Given the description of an element on the screen output the (x, y) to click on. 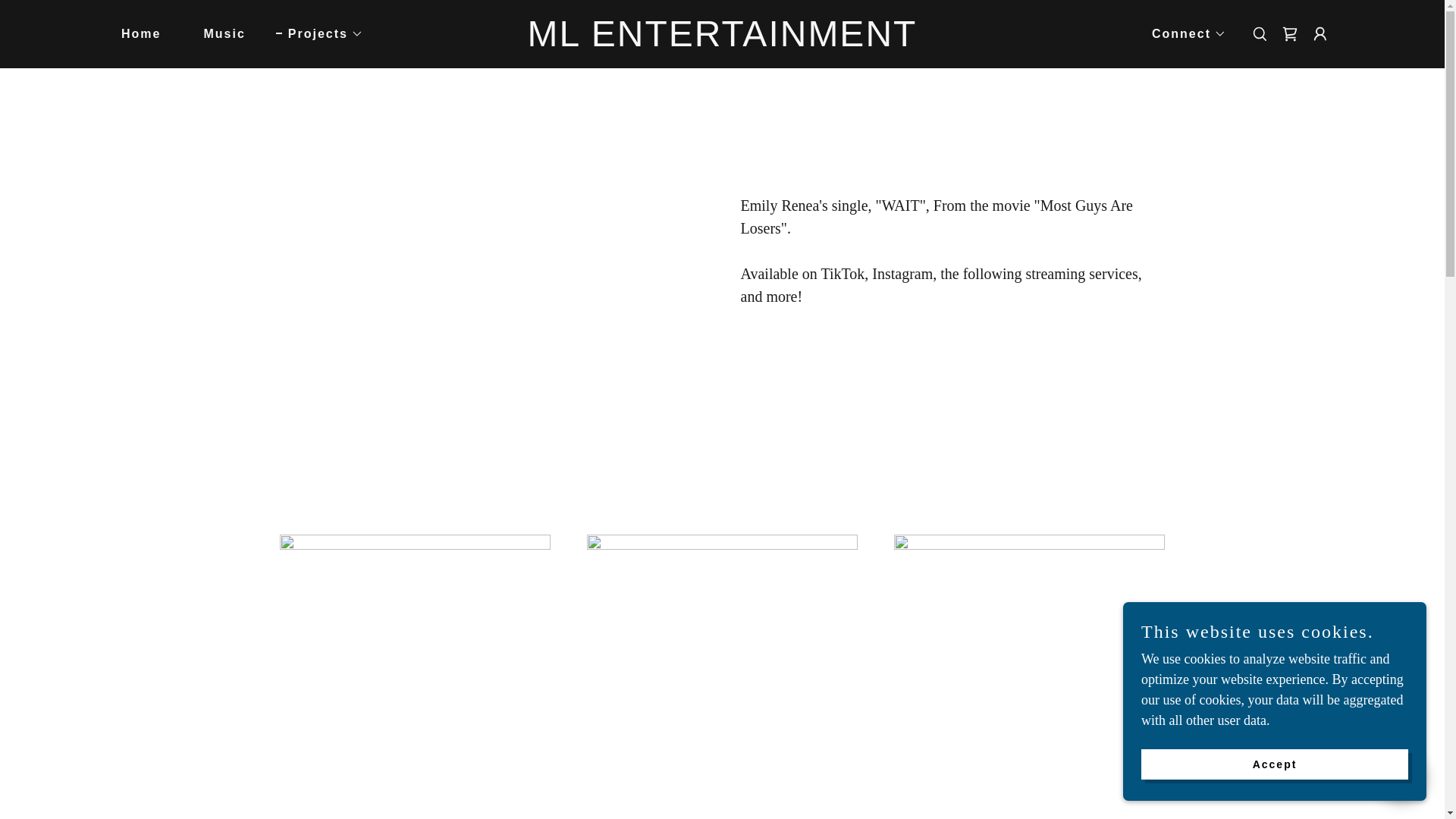
Home (134, 33)
Music (217, 33)
ML ENTERTAINMENT (722, 41)
Connect (1182, 34)
ML ENTERTAINMENT (722, 41)
Projects (319, 34)
